Given the description of an element on the screen output the (x, y) to click on. 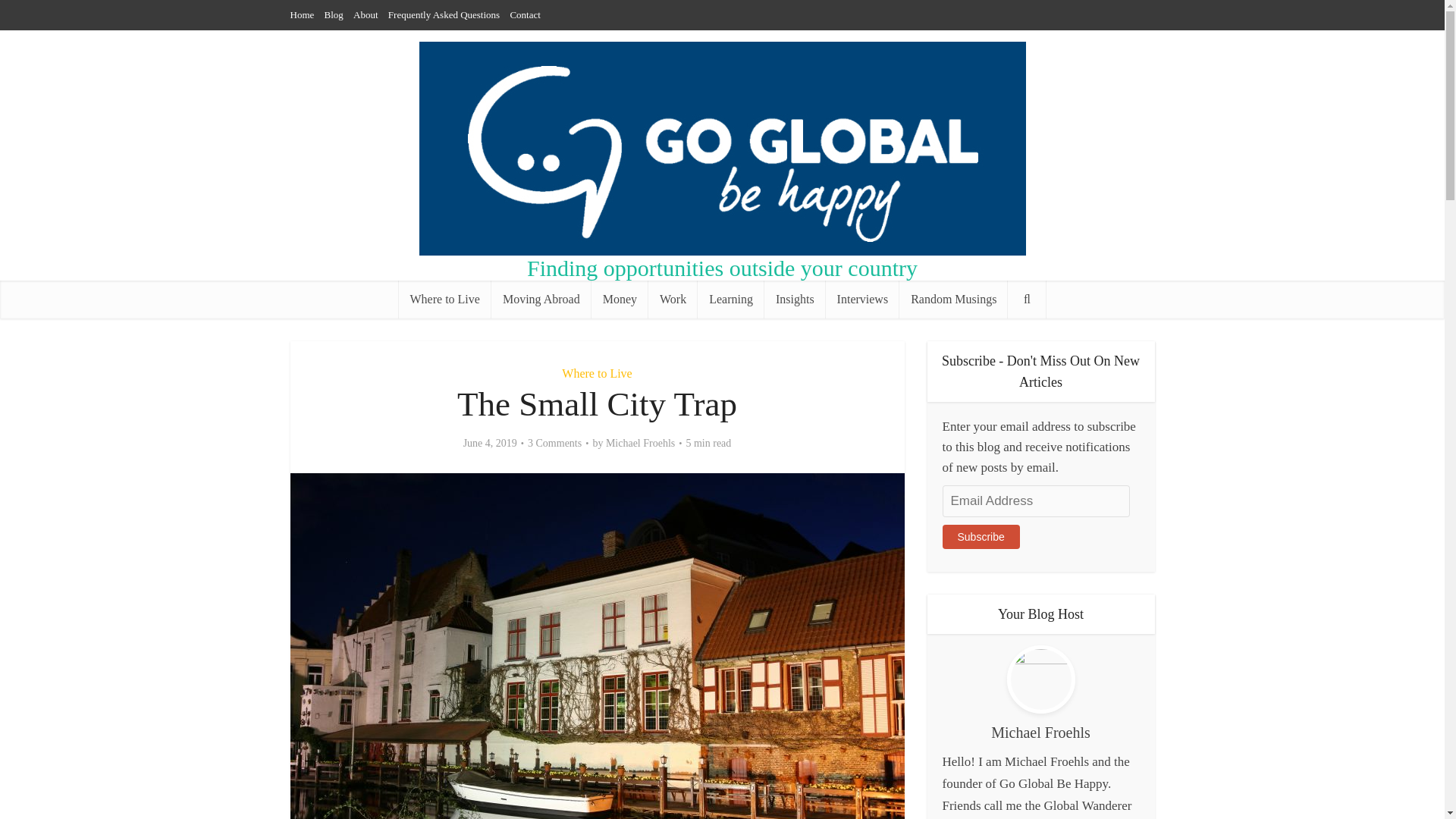
Interviews (862, 299)
3 Comments (553, 443)
Blog (333, 14)
Contact (524, 14)
Where to Live (596, 373)
Money (619, 299)
Random Musings (953, 299)
Where to Live (445, 299)
About (365, 14)
Learning (730, 299)
Moving Abroad (541, 299)
Michael Froehls (640, 443)
Insights (794, 299)
Home (301, 14)
Work (672, 299)
